Given the description of an element on the screen output the (x, y) to click on. 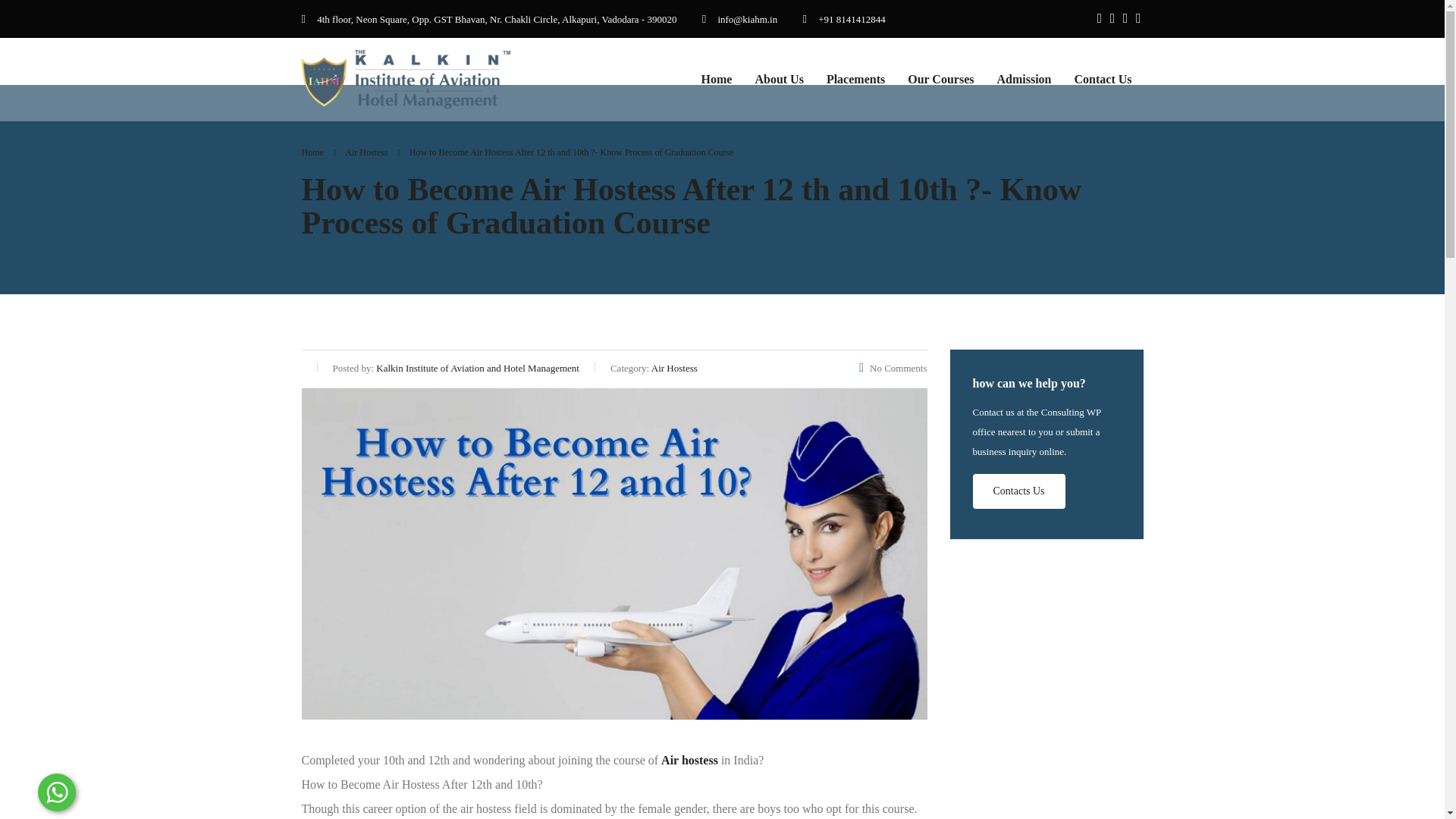
Air hostess (689, 759)
Home (717, 79)
Placements (855, 79)
No Comments (892, 367)
About Us (777, 79)
Admission (1023, 79)
Our Courses (940, 79)
Go to the Air Hostess category archives. (366, 152)
Contact Us (1102, 79)
Go to KIAHM. (312, 152)
